Given the description of an element on the screen output the (x, y) to click on. 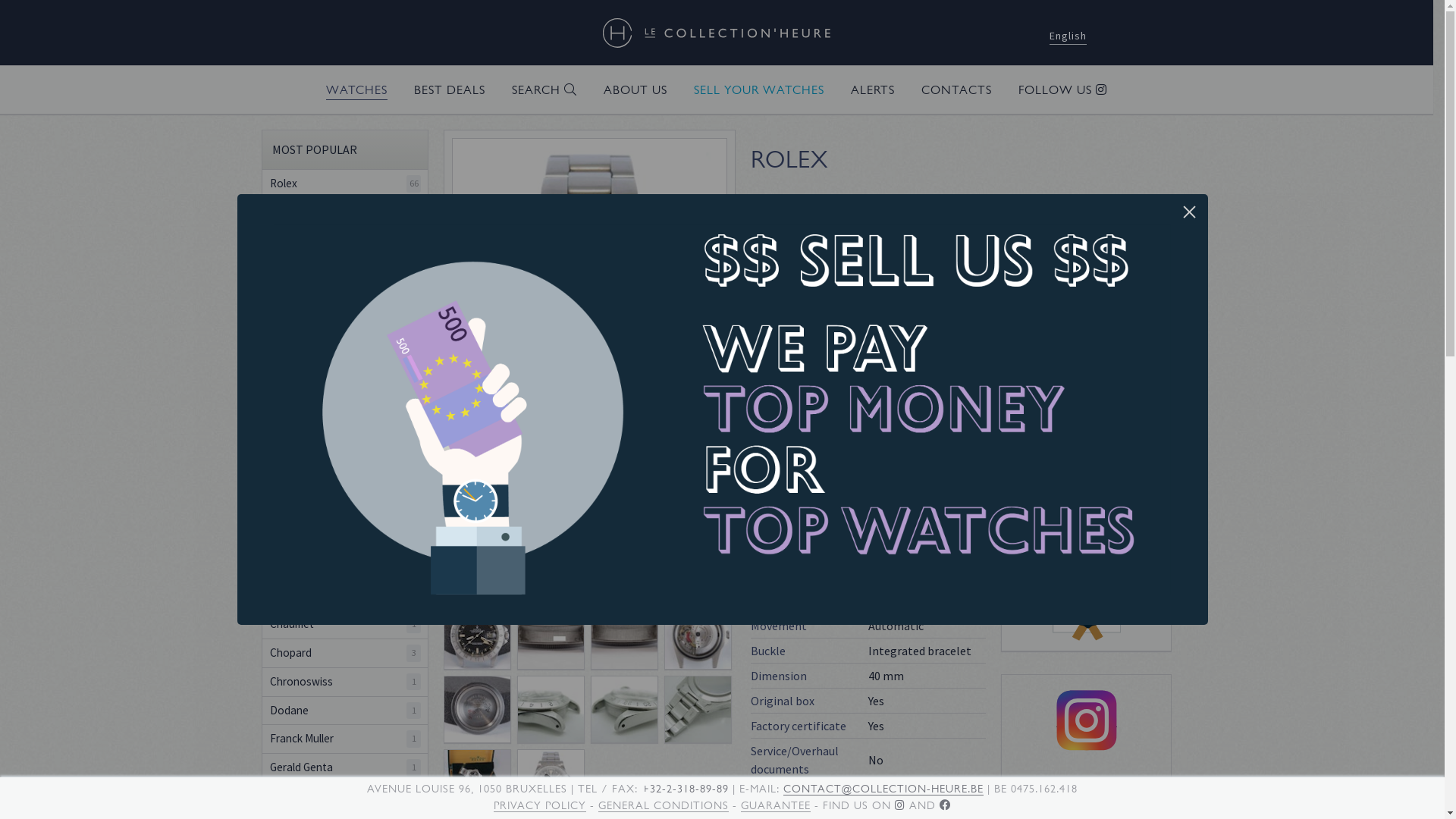
CONTACT@COLLECTION-HEURE.BE Element type: text (883, 788)
Warranty Element type: text (1086, 443)
RESERVE THIS WATCH Element type: text (1085, 262)
Cartier
6 Element type: text (344, 538)
Blancpain
3 Element type: text (344, 395)
Chaumet
1 Element type: text (344, 624)
Dodane
1 Element type: text (344, 710)
Print Element type: text (1086, 511)
Breitling
14 Element type: text (344, 480)
COLLECTION'HEURE Element type: text (716, 32)
Girard Perregaux
2 Element type: text (344, 796)
Chopard
3 Element type: text (344, 653)
Chronoswiss
1 Element type: text (344, 681)
ABOUT US Element type: text (635, 90)
Gerald Genta
1 Element type: text (344, 767)
ALERTS Element type: text (872, 90)
Boucheron
2 Element type: text (344, 424)
Rolex
66 Element type: text (344, 183)
Chanel
3 Element type: text (344, 595)
Franck Muller
1 Element type: text (344, 738)
Bell & Ross
7 Element type: text (344, 366)
Bulgari
2 Element type: text (344, 509)
FOLLOW US Element type: text (1062, 90)
Create an alert Element type: text (1086, 477)
SELL YOUR WATCHES Element type: text (758, 90)
GUARANTEE Element type: text (775, 805)
WATCHES Element type: text (356, 90)
Patek Philippe
20 Element type: text (344, 212)
Certina
2 Element type: text (344, 567)
Audemars Piguet
31 Element type: text (344, 308)
CONTACT US Element type: text (1085, 299)
SEARCH Element type: text (544, 90)
Audemars Piguet
31 Element type: text (344, 241)
GENERAL CONDITIONS Element type: text (663, 805)
CONTACTS Element type: text (956, 90)
PRIVACY POLICY Element type: text (539, 805)
Baume et Mercier
20 Element type: text (344, 337)
Breguet
3 Element type: text (344, 452)
BEST DEALS Element type: text (449, 90)
